Given the description of an element on the screen output the (x, y) to click on. 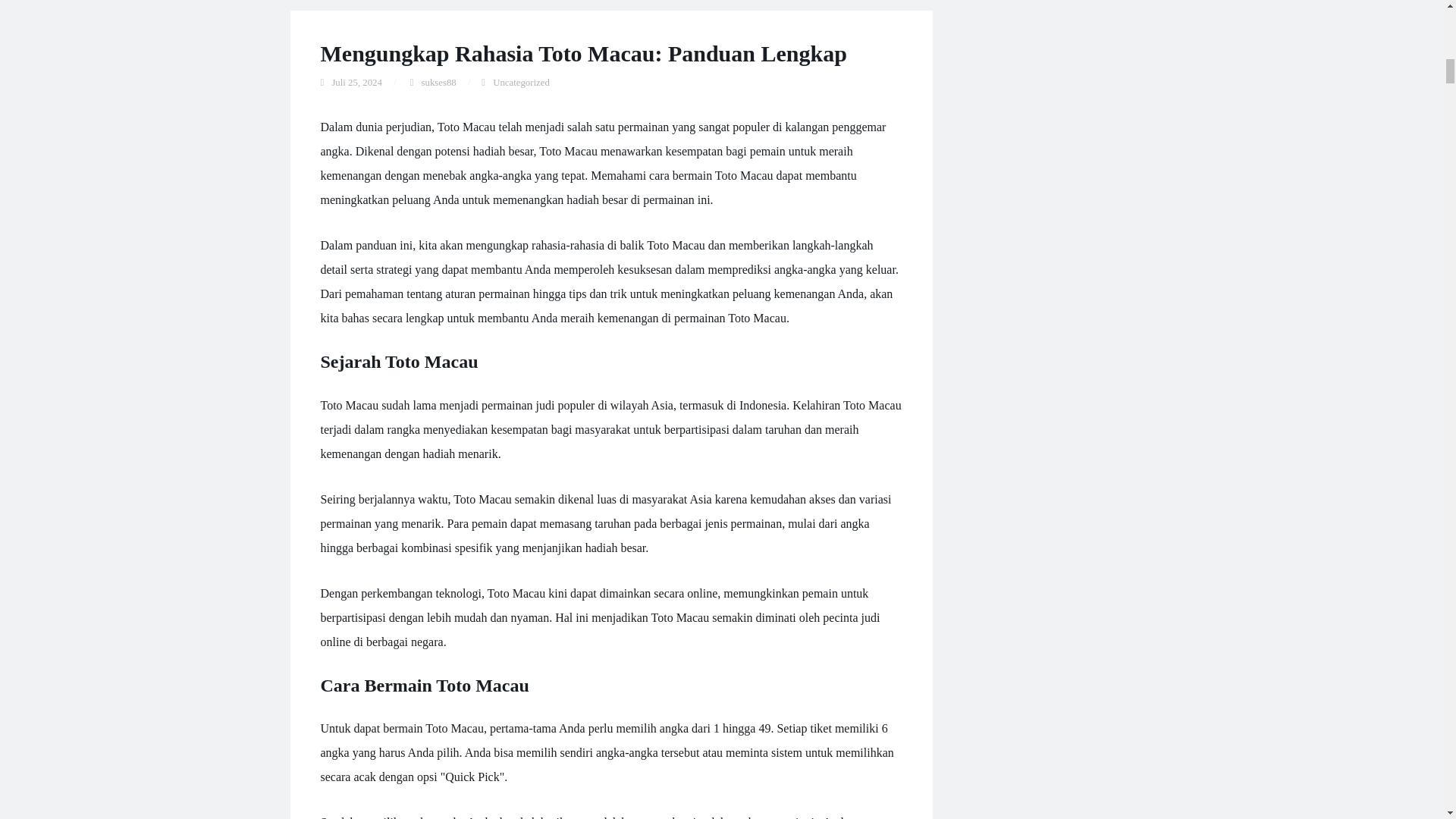
sukses88 (439, 81)
Juli 25, 2024 (356, 81)
Uncategorized (521, 81)
Mengungkap Rahasia Toto Macau: Panduan Lengkap (582, 53)
